Given the description of an element on the screen output the (x, y) to click on. 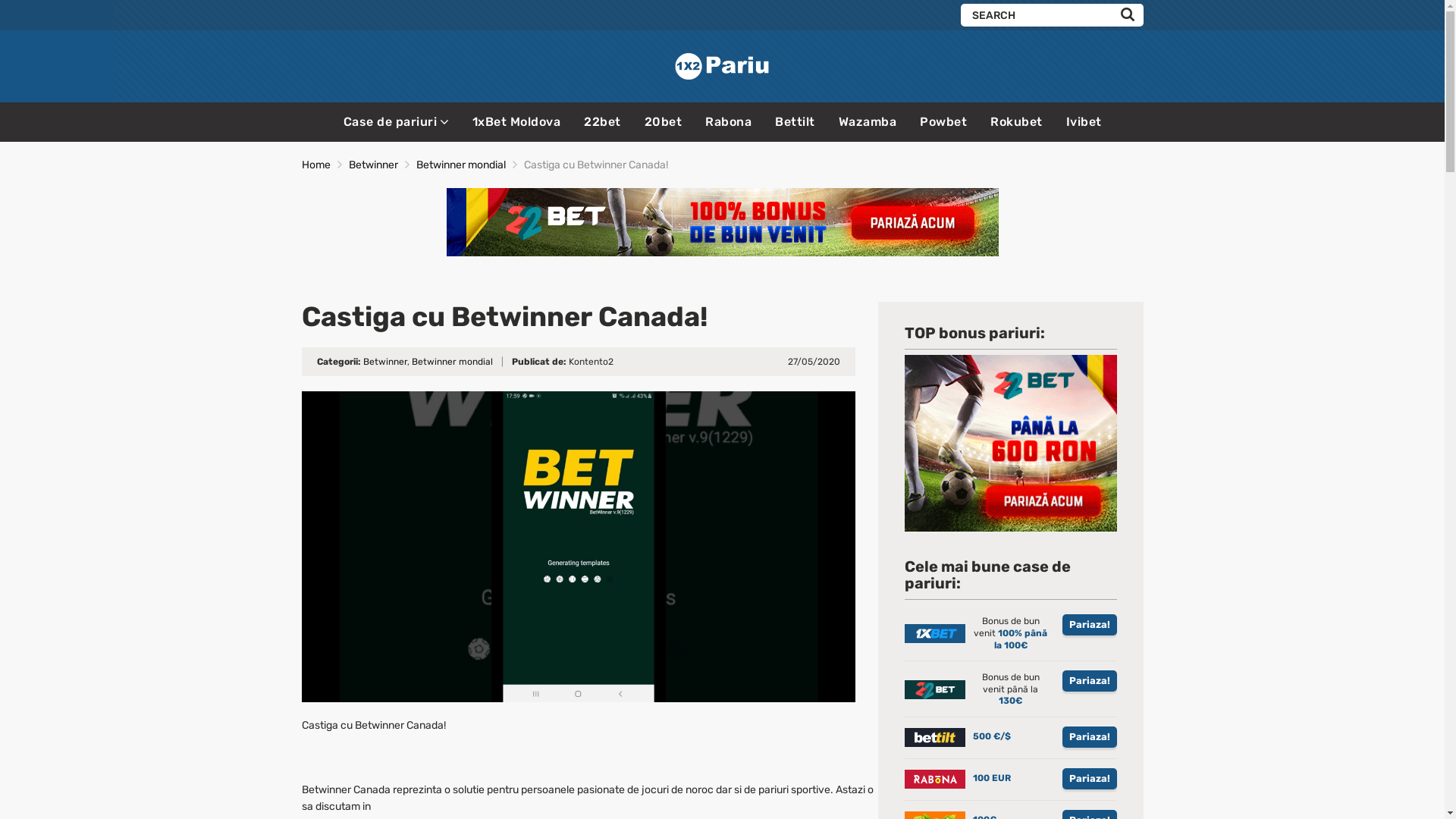
Betwinner mondial Element type: text (460, 164)
Betwinner Element type: text (373, 164)
Powbet Element type: text (942, 121)
Wazamba Element type: text (867, 121)
Pariaza! Element type: text (1088, 736)
20bet Element type: text (663, 121)
Bettilt Element type: text (795, 121)
Betwinner Element type: text (384, 361)
Case de pariuri Element type: text (395, 121)
Ivibet Element type: text (1083, 121)
Rabona Element type: text (728, 121)
Pariaza! Element type: text (1088, 778)
1xBet Moldova Element type: text (515, 121)
22bet Element type: text (602, 121)
Home Element type: text (315, 164)
Pariaza! Element type: text (1088, 624)
Betwinner mondial Element type: text (451, 361)
Pariaza! Element type: text (1088, 680)
Rokubet Element type: text (1016, 121)
